Given the description of an element on the screen output the (x, y) to click on. 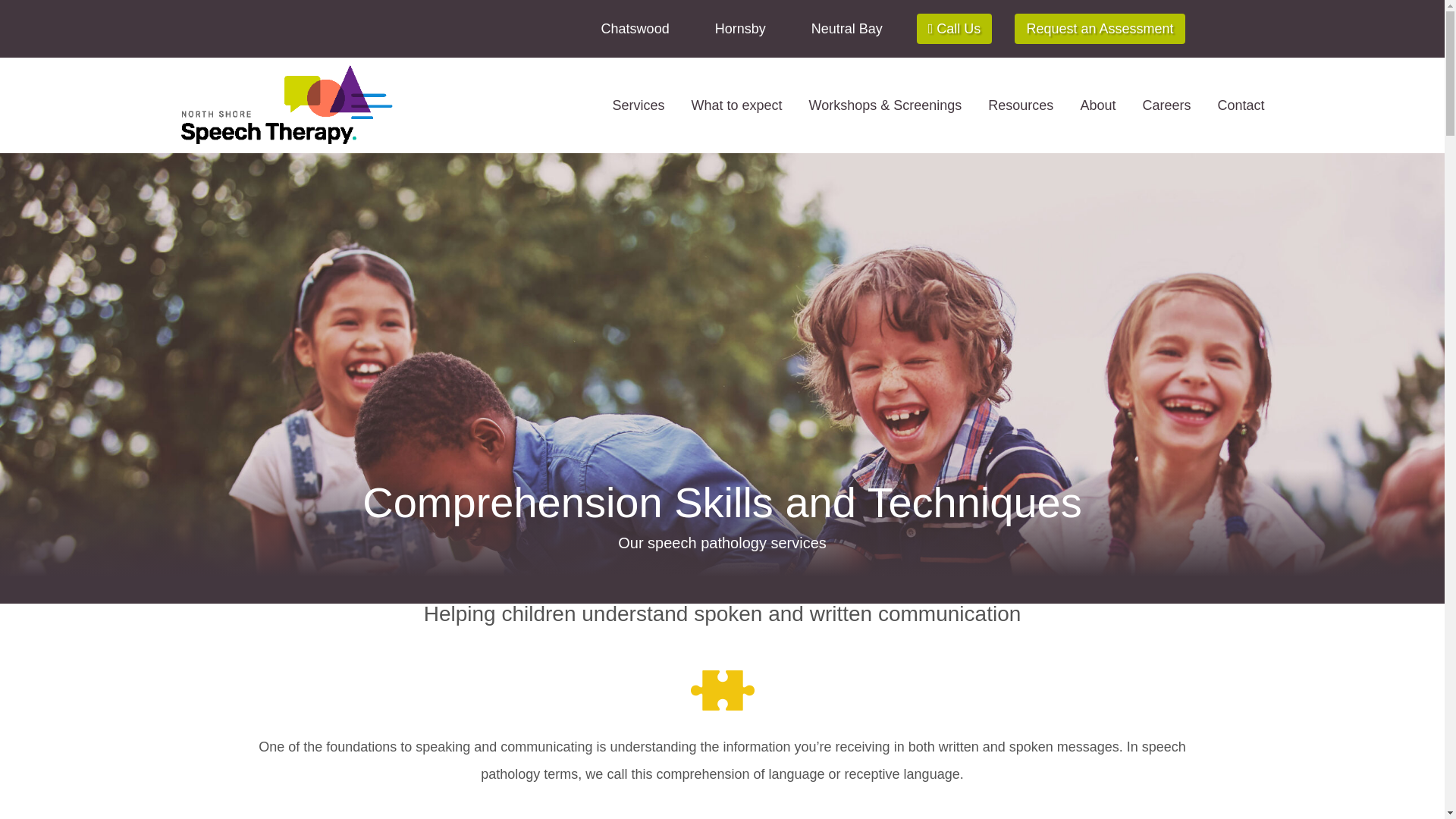
Hornsby (740, 28)
Chatswood (635, 28)
Neutral Bay (846, 28)
Call Us (954, 28)
Request an Assessment (1099, 28)
What to expect (737, 105)
